Given the description of an element on the screen output the (x, y) to click on. 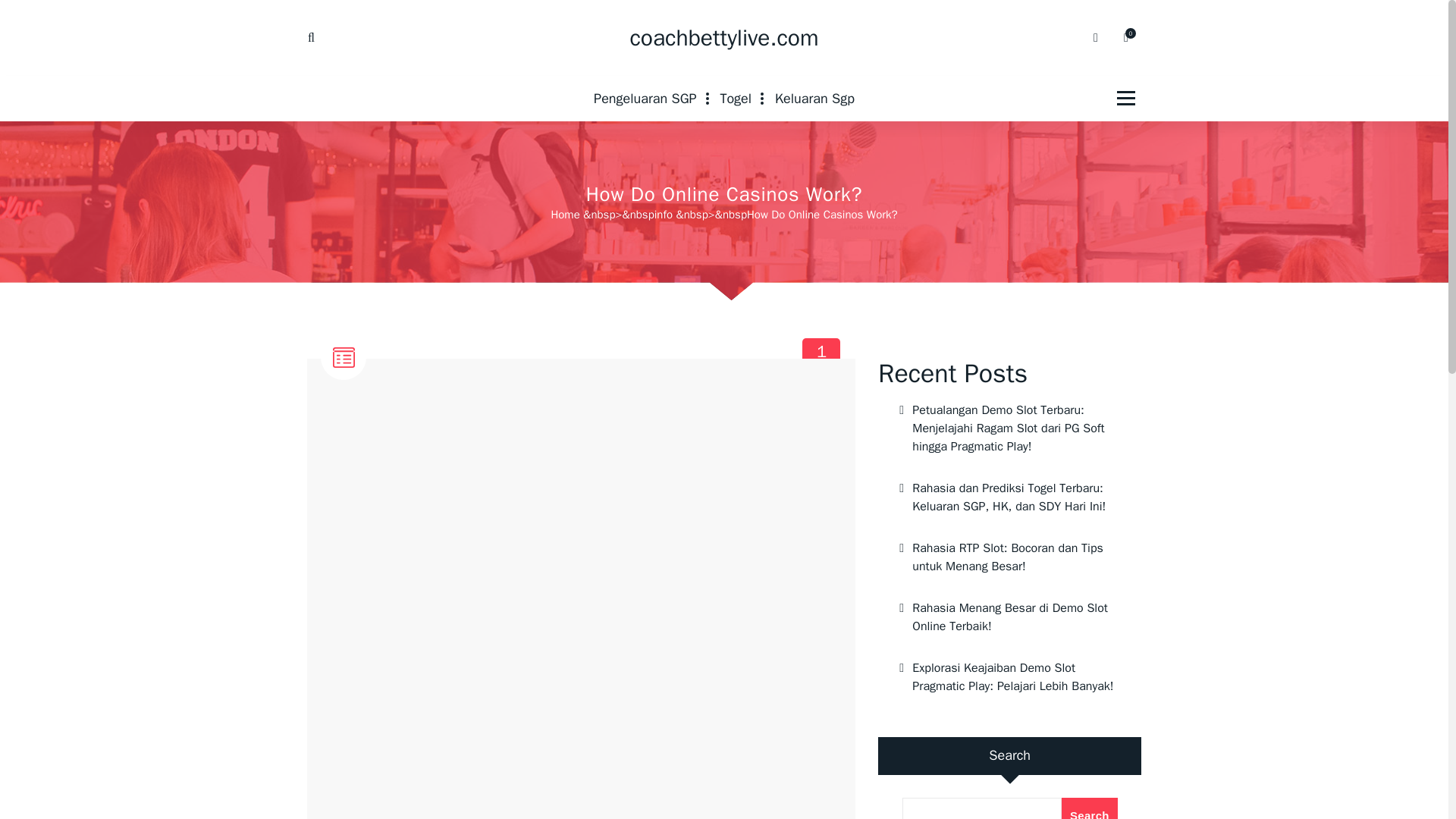
Pengeluaran SGP (644, 98)
coachbettylive.com (723, 37)
Togel (734, 98)
Keluaran Sgp (814, 98)
Home (821, 357)
Rahasia RTP Slot: Bocoran dan Tips untuk Menang Besar! (564, 214)
info (1009, 557)
Togel (343, 396)
Pengeluaran SGP (734, 98)
Search (644, 98)
0 (1089, 808)
